Given the description of an element on the screen output the (x, y) to click on. 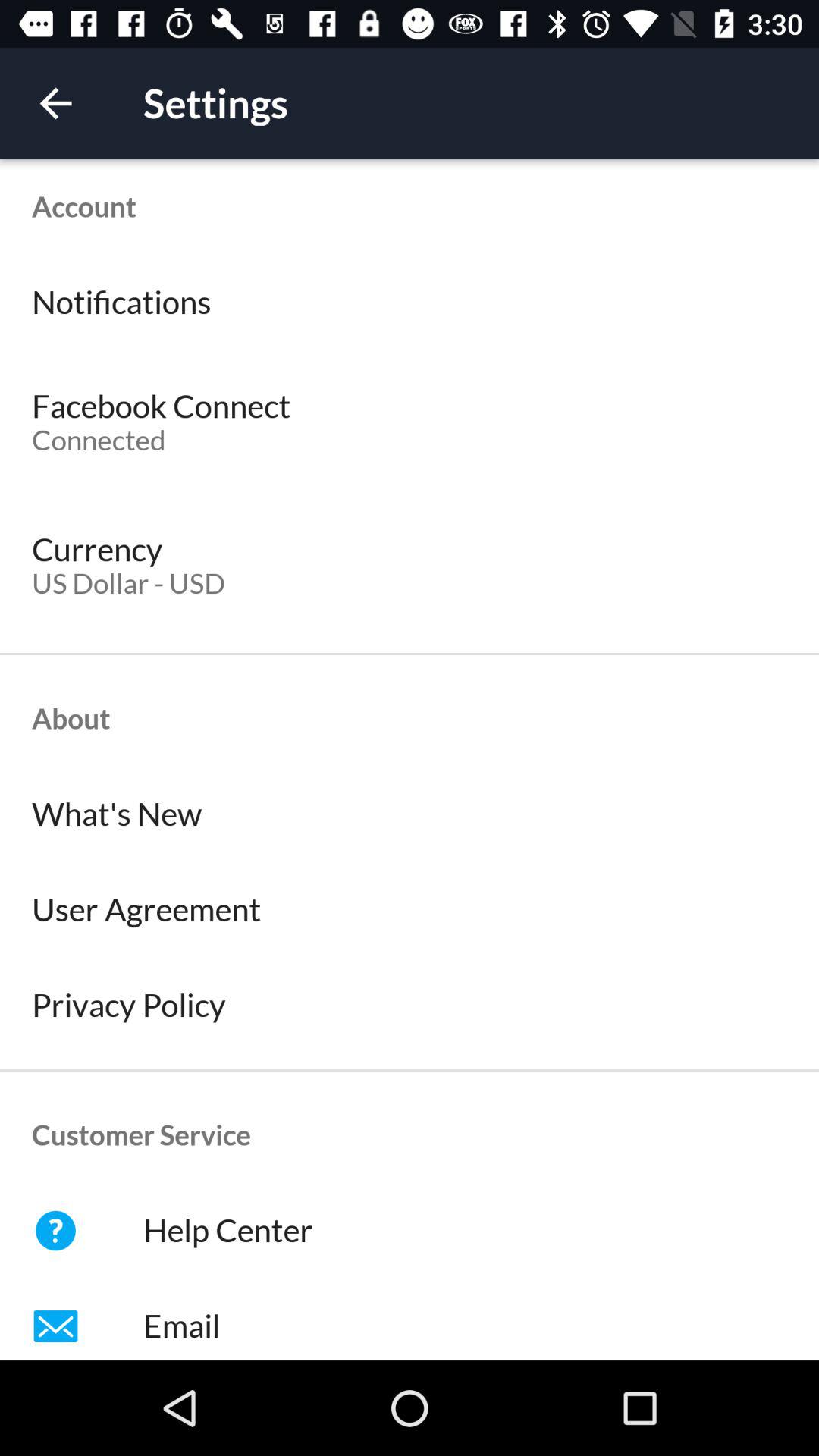
jump until email item (409, 1319)
